Given the description of an element on the screen output the (x, y) to click on. 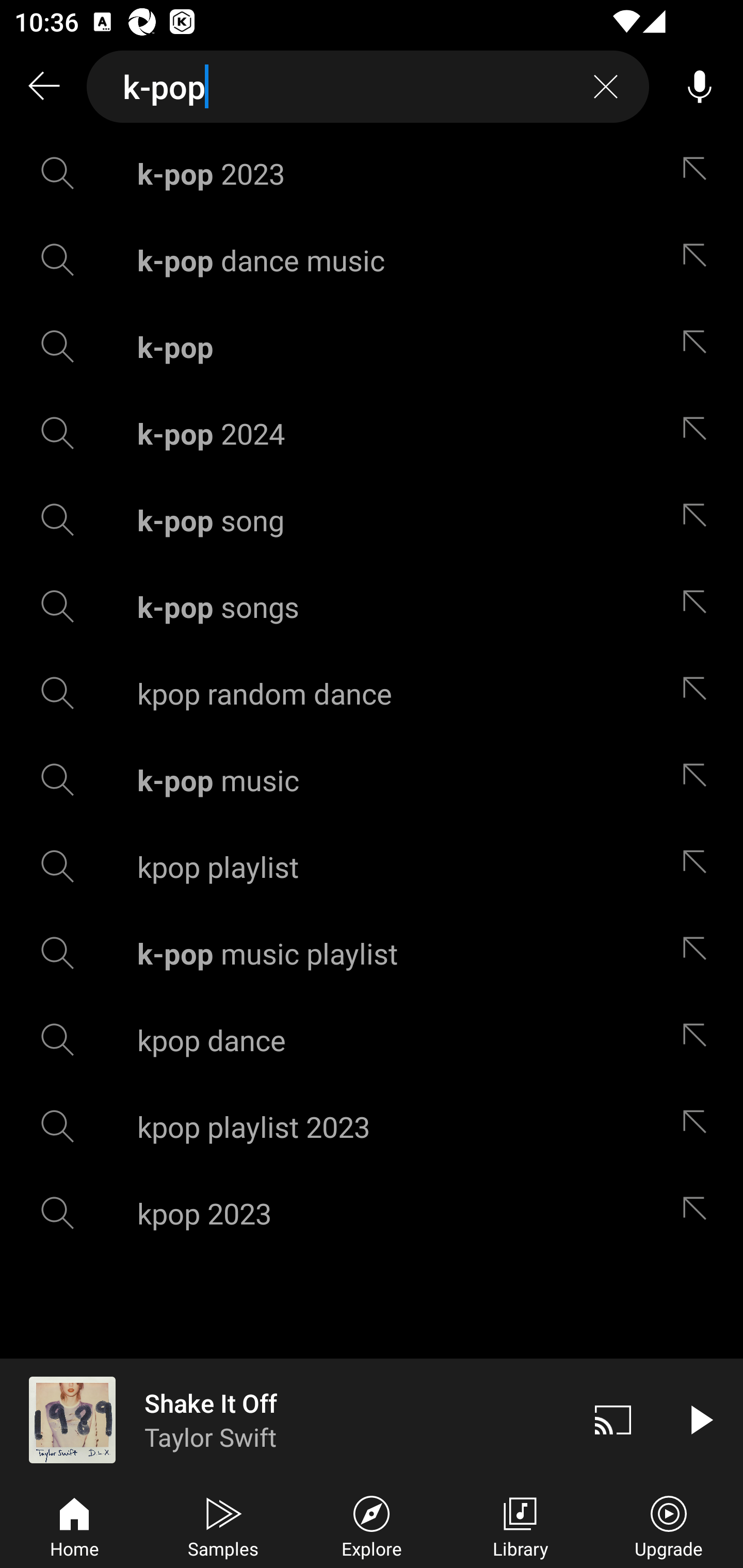
Search back (43, 86)
k-pop (367, 86)
Clear search (605, 86)
Voice search (699, 86)
k-pop 2023 Edit suggestion k-pop 2023 (371, 173)
Edit suggestion k-pop 2023 (699, 173)
Edit suggestion k-pop dance music (699, 259)
k-pop Edit suggestion k-pop (371, 346)
Edit suggestion k-pop (699, 346)
k-pop 2024 Edit suggestion k-pop 2024 (371, 433)
Edit suggestion k-pop 2024 (699, 433)
k-pop song Edit suggestion k-pop song (371, 519)
Edit suggestion k-pop song (699, 519)
k-pop songs Edit suggestion k-pop songs (371, 605)
Edit suggestion k-pop songs (699, 605)
Edit suggestion kpop random dance (699, 692)
k-pop music Edit suggestion k-pop music (371, 779)
Edit suggestion k-pop music (699, 779)
kpop playlist Edit suggestion kpop playlist (371, 866)
Edit suggestion kpop playlist (699, 866)
Edit suggestion k-pop music playlist (699, 953)
kpop dance Edit suggestion kpop dance (371, 1040)
Edit suggestion kpop dance (699, 1040)
Edit suggestion kpop playlist 2023 (699, 1126)
kpop 2023 Edit suggestion kpop 2023 (371, 1212)
Edit suggestion kpop 2023 (699, 1212)
Shake It Off Taylor Swift (284, 1419)
Cast. Disconnected (612, 1419)
Play video (699, 1419)
Home (74, 1524)
Samples (222, 1524)
Explore (371, 1524)
Library (519, 1524)
Upgrade (668, 1524)
